Given the description of an element on the screen output the (x, y) to click on. 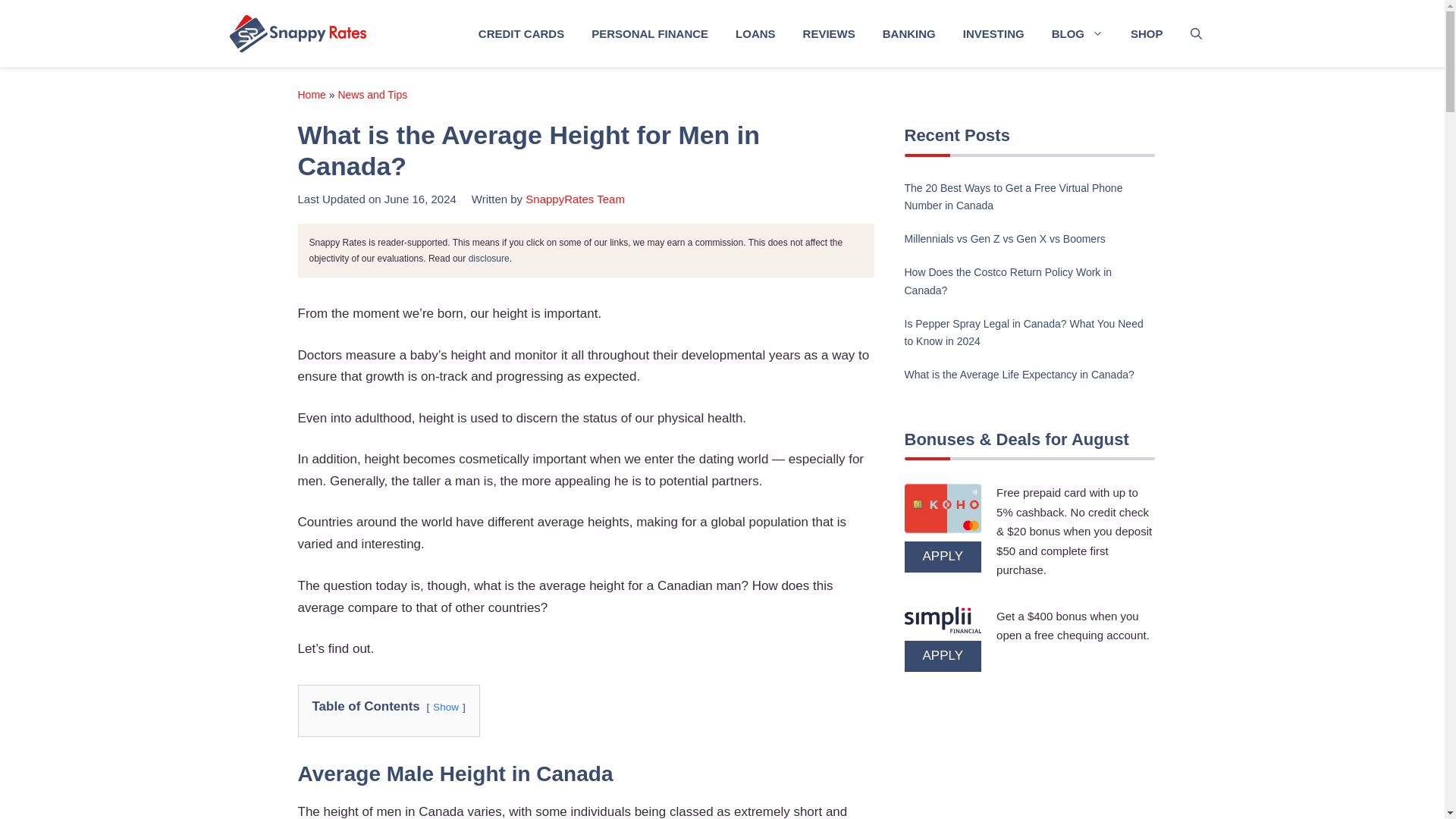
BANKING (909, 33)
LOANS (755, 33)
Home (310, 94)
REVIEWS (829, 33)
SHOP (1146, 33)
BLOG (1077, 33)
PERSONAL FINANCE (650, 33)
SnappyRates Team (574, 198)
Show (445, 706)
News and Tips (372, 94)
CREDIT CARDS (521, 33)
disclosure (488, 258)
INVESTING (993, 33)
